Given the description of an element on the screen output the (x, y) to click on. 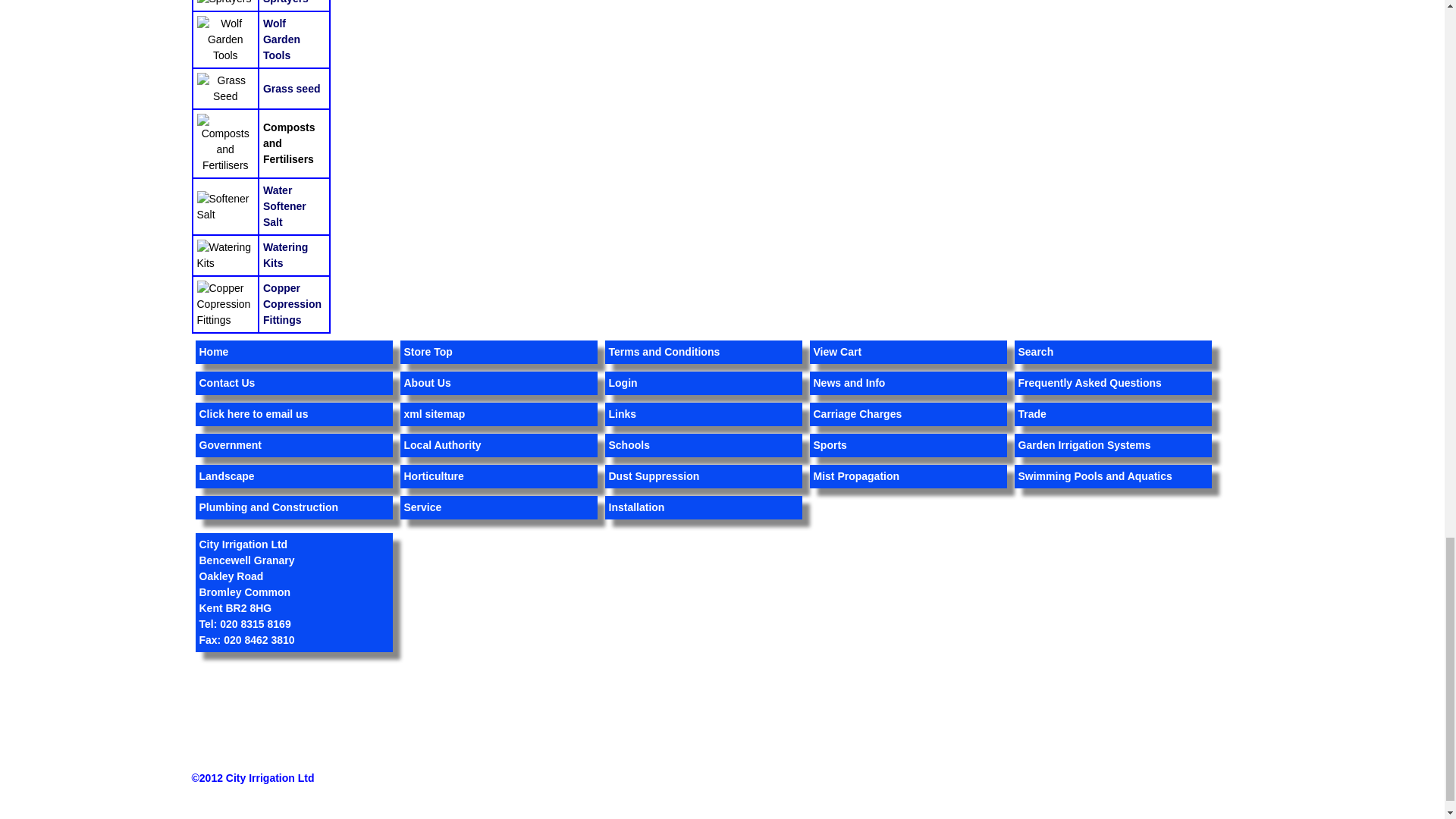
Home (213, 351)
About City Irrigation Ltd (426, 382)
